Given the description of an element on the screen output the (x, y) to click on. 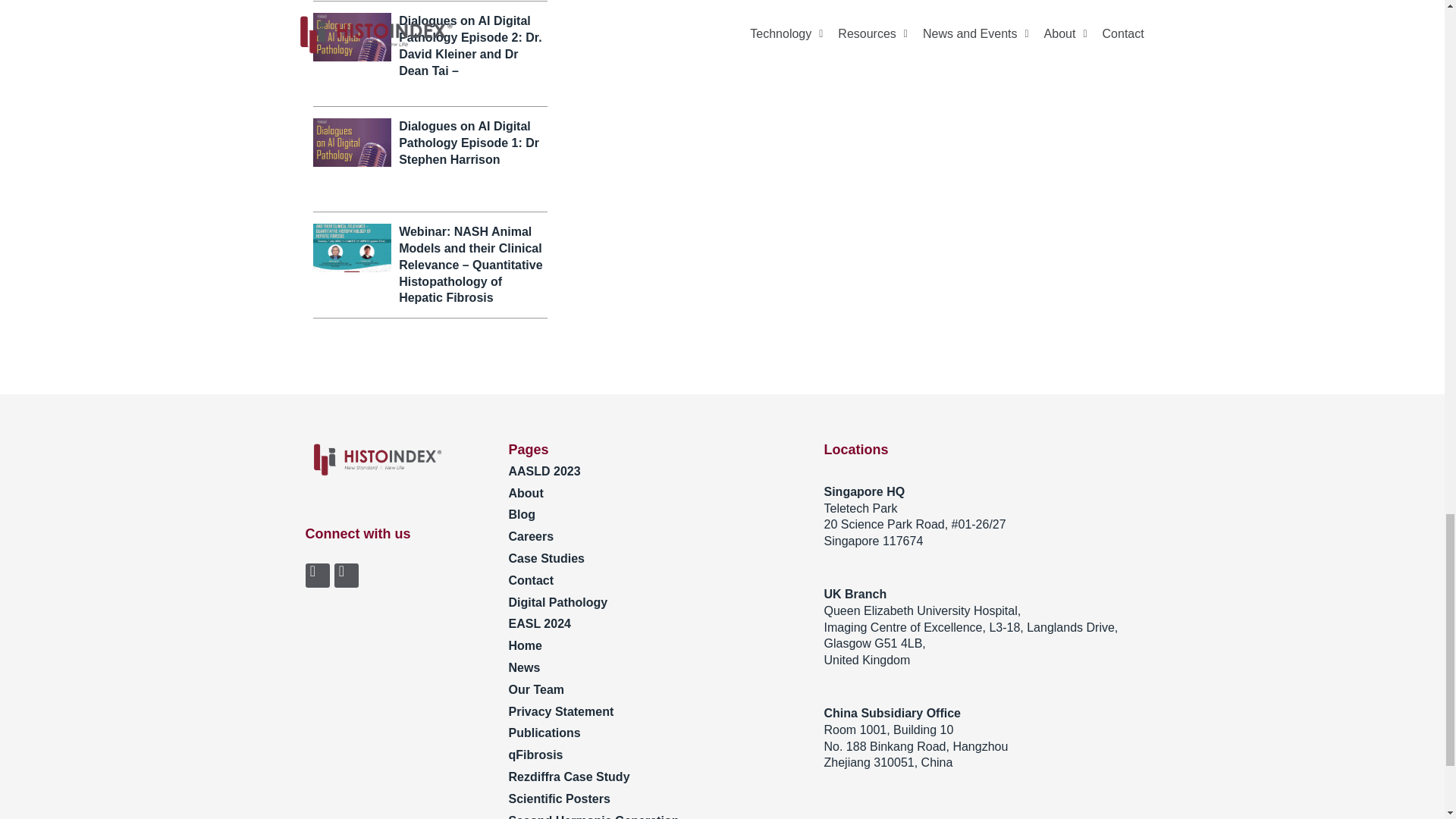
histoindex-podcast - HistoIndex (351, 142)
histoindex-podcast - HistoIndex (351, 37)
